Given the description of an element on the screen output the (x, y) to click on. 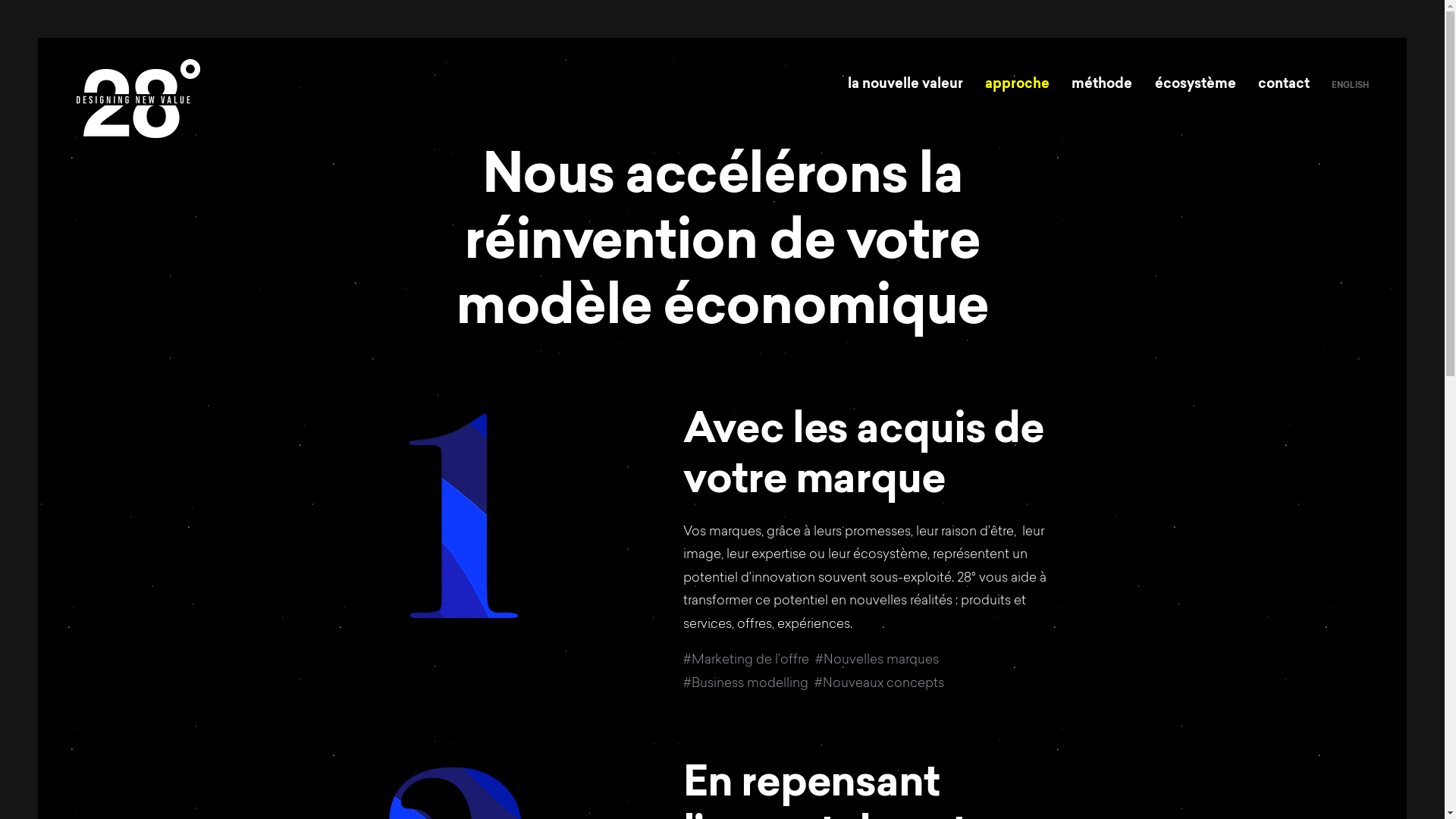
Aller au contenu Element type: text (37, 37)
la nouvelle valeur Element type: text (905, 84)
approche Element type: text (1017, 84)
ENGLISH Element type: text (1349, 85)
contact Element type: text (1283, 84)
